Given the description of an element on the screen output the (x, y) to click on. 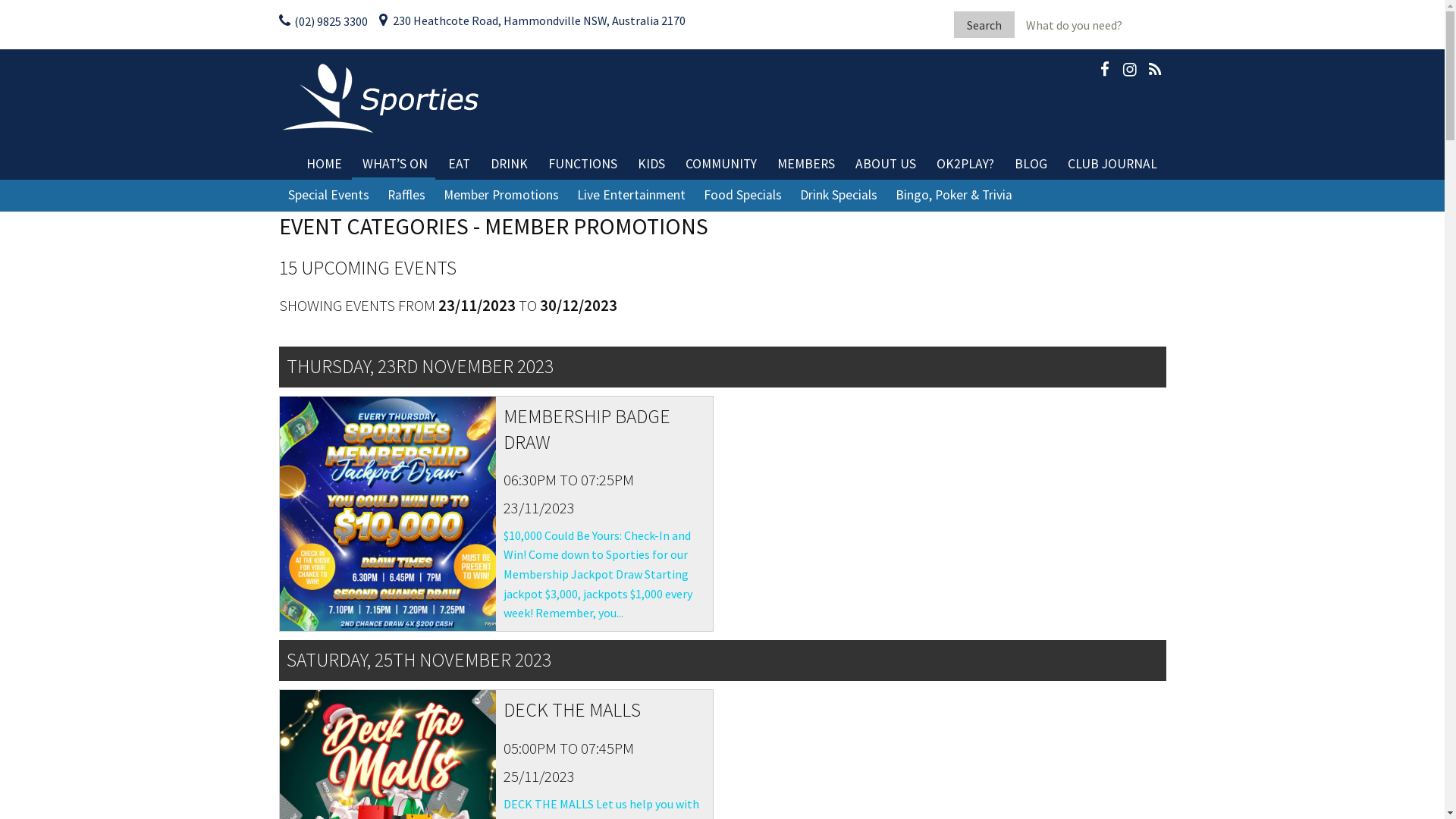
Community Blog Element type: text (1094, 204)
Drink Specials Element type: text (837, 195)
Food Specials Element type: text (742, 195)
BLOG Element type: text (1030, 163)
Contact Element type: text (935, 204)
Search Element type: text (983, 24)
OK2PLAY? Element type: text (964, 163)
The Backyard Element type: text (717, 204)
Main Bar Element type: text (570, 204)
OK2PLAY? Element type: text (856, 204)
Half Time Diner Element type: text (527, 204)
Member Promotions Element type: text (500, 195)
KIDS Element type: text (650, 163)
Follow us on Instagram Element type: hover (1128, 71)
HOME Element type: text (324, 163)
EAT Element type: text (458, 163)
CLUB JOURNAL Element type: text (1112, 163)
Nominate A Neighbour Element type: text (765, 204)
Special Events Element type: text (328, 195)
Live Entertainment Element type: text (630, 195)
Bingo, Poker & Trivia Element type: text (442, 204)
ABOUT US Element type: text (885, 163)
Bingo, Poker & Trivia Element type: text (952, 195)
(02) 9825 3300 Element type: text (323, 20)
COMMUNITY Element type: text (720, 163)
DRINK Element type: text (508, 163)
MEMBERS Element type: text (805, 163)
Like us on Facebook Element type: hover (1104, 71)
Back to Sporties homepage Element type: hover (382, 96)
Search for: Element type: hover (1090, 24)
FUNCTIONS Element type: text (581, 163)
Raffles Element type: text (405, 195)
Read Our RSS Feed Element type: hover (1154, 71)
Submit Feedback Element type: text (792, 439)
Brasserie Element type: text (627, 204)
